Given the description of an element on the screen output the (x, y) to click on. 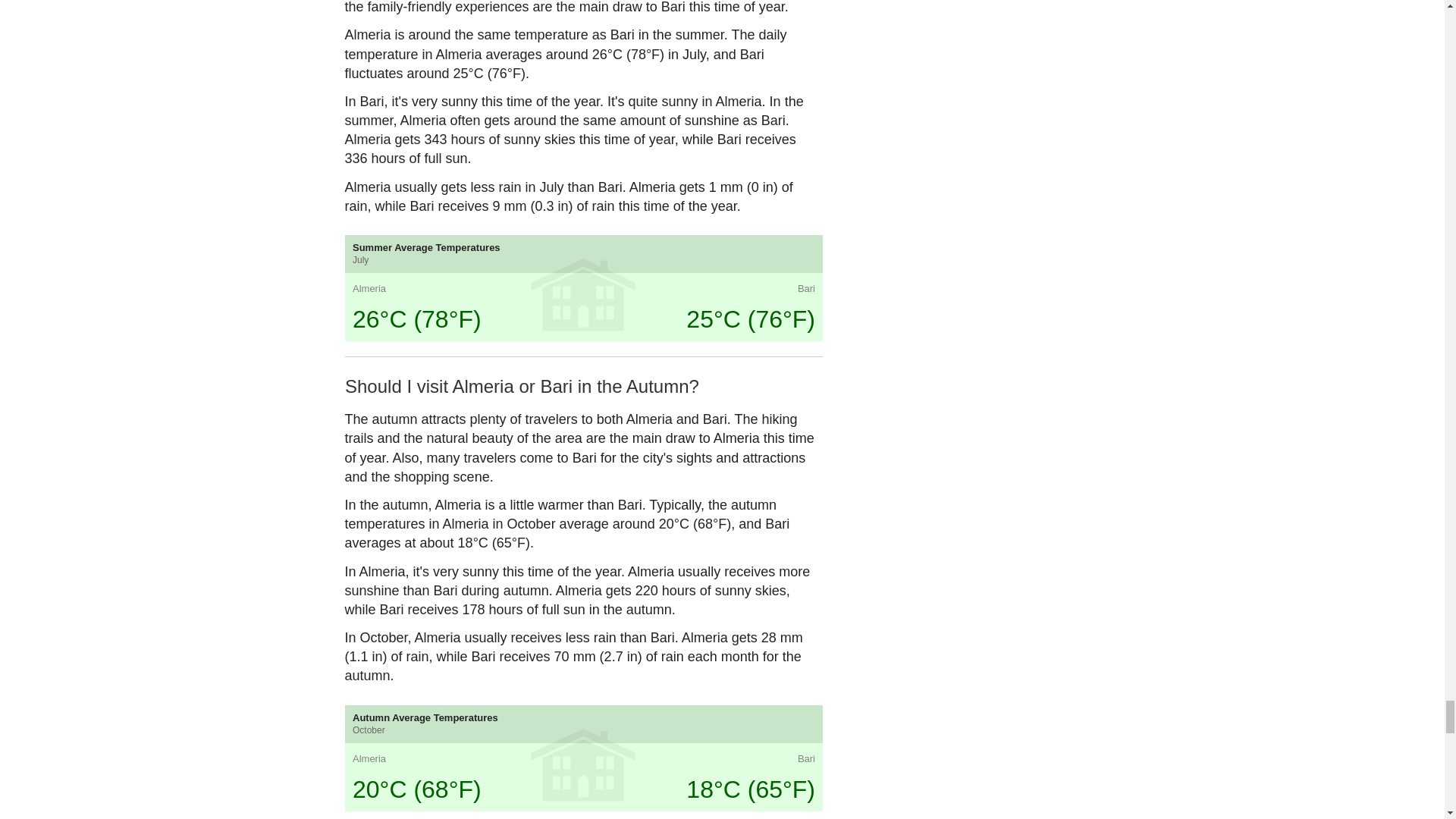
Travel Costs for Barcelona (522, 785)
Travel Costs for Rome (764, 785)
Travel Costs for Madrid (400, 785)
Affordable Hostels and Bed and Breakfasts in Bari, Italy (643, 785)
